Given the description of an element on the screen output the (x, y) to click on. 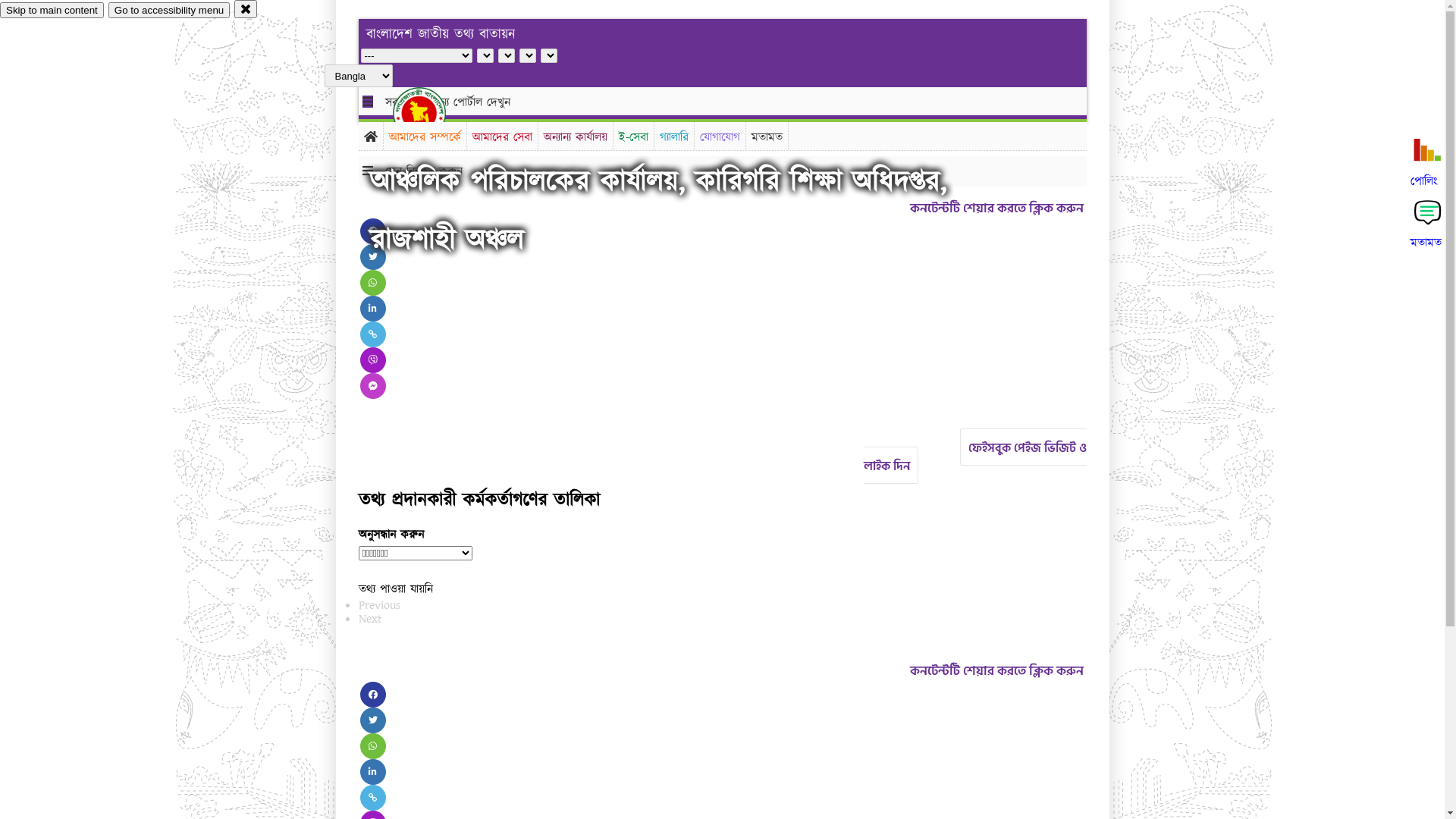
close Element type: hover (245, 9)
Go to accessibility menu Element type: text (168, 10)
Skip to main content Element type: text (51, 10)

                
             Element type: hover (431, 112)
